Given the description of an element on the screen output the (x, y) to click on. 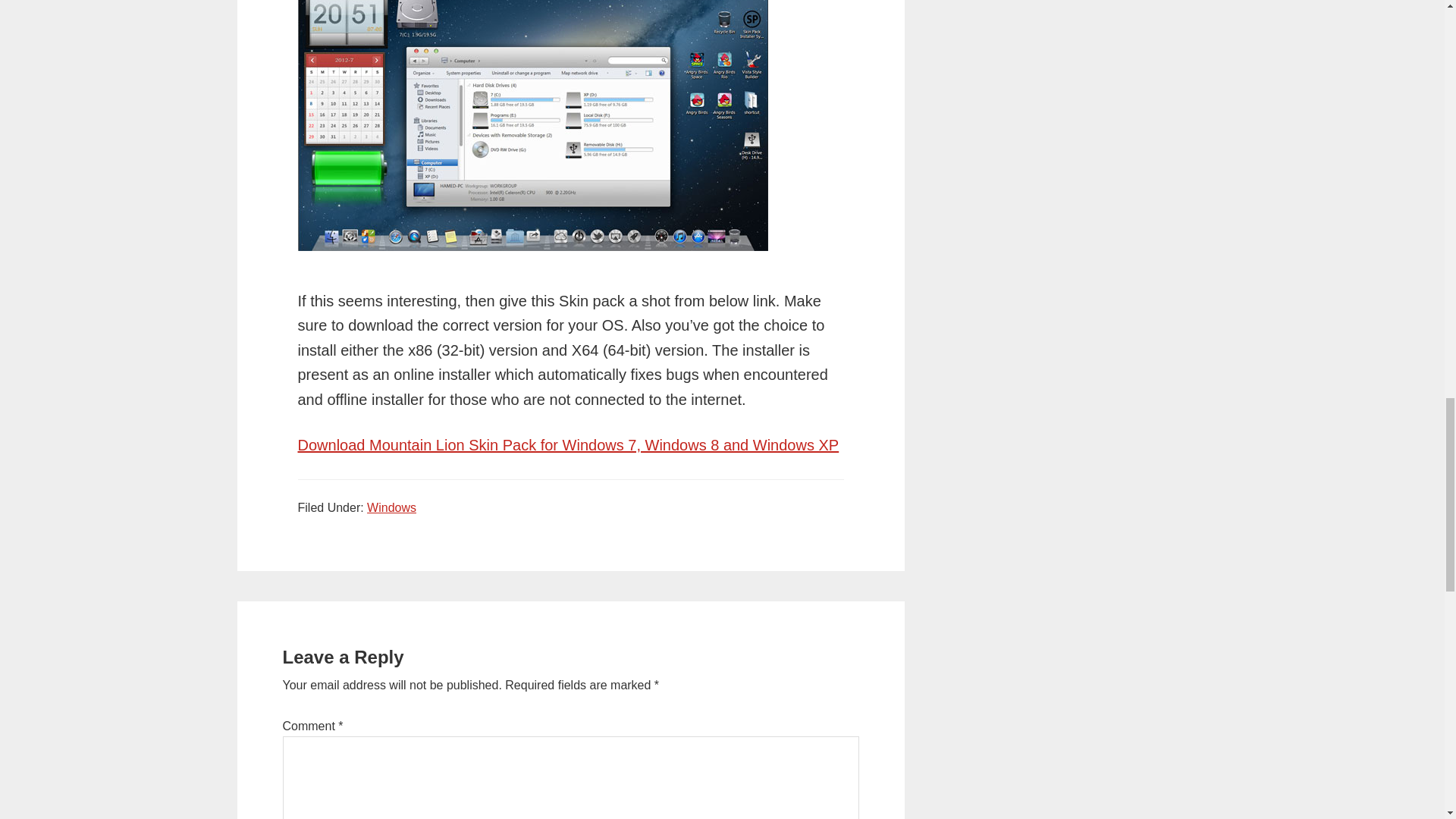
OS X Mountain Lion (532, 125)
Windows (391, 507)
